Given the description of an element on the screen output the (x, y) to click on. 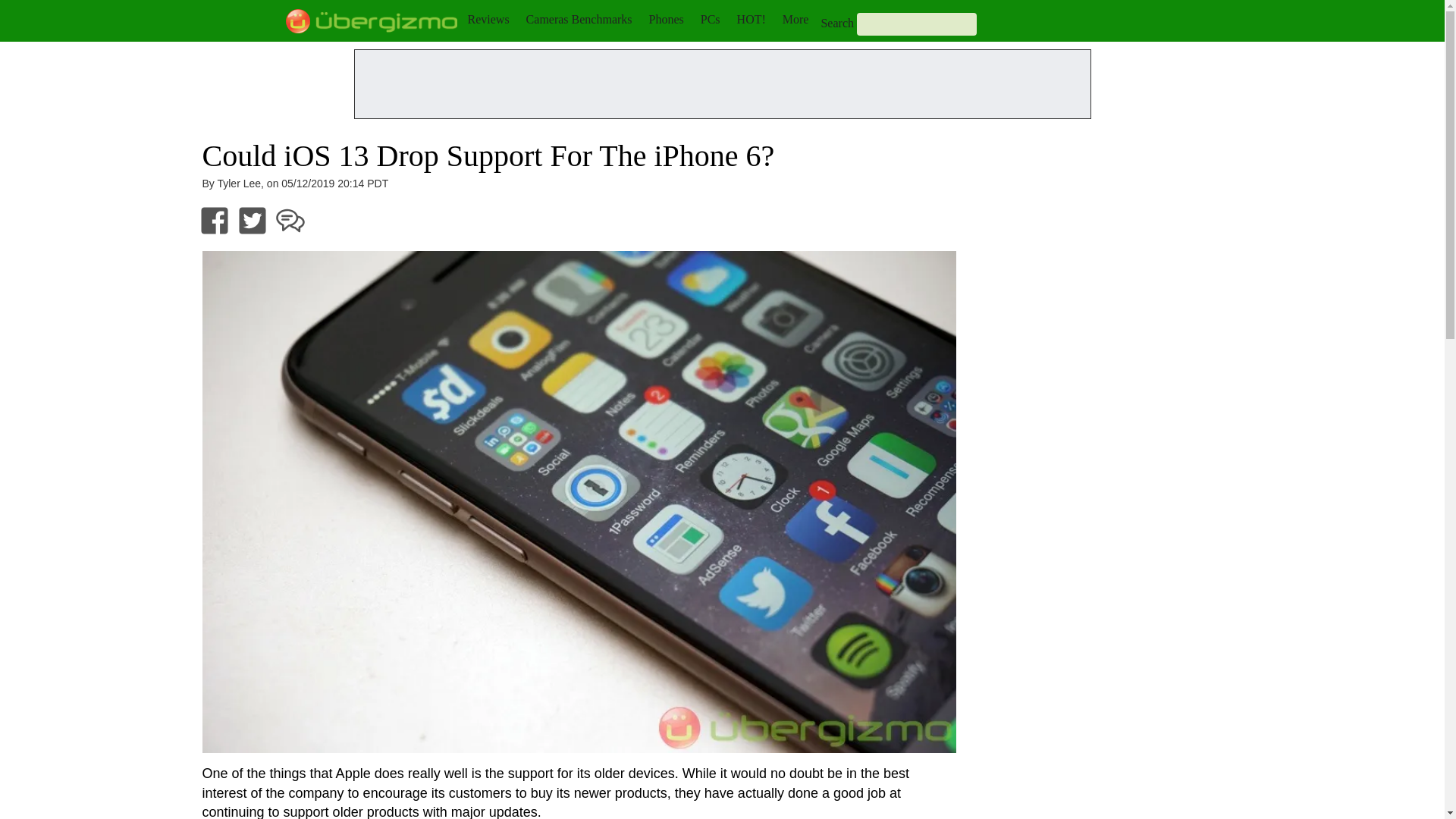
Reviews (487, 19)
Phones (666, 19)
PCs (710, 19)
Cameras Benchmarks (578, 19)
